Given the description of an element on the screen output the (x, y) to click on. 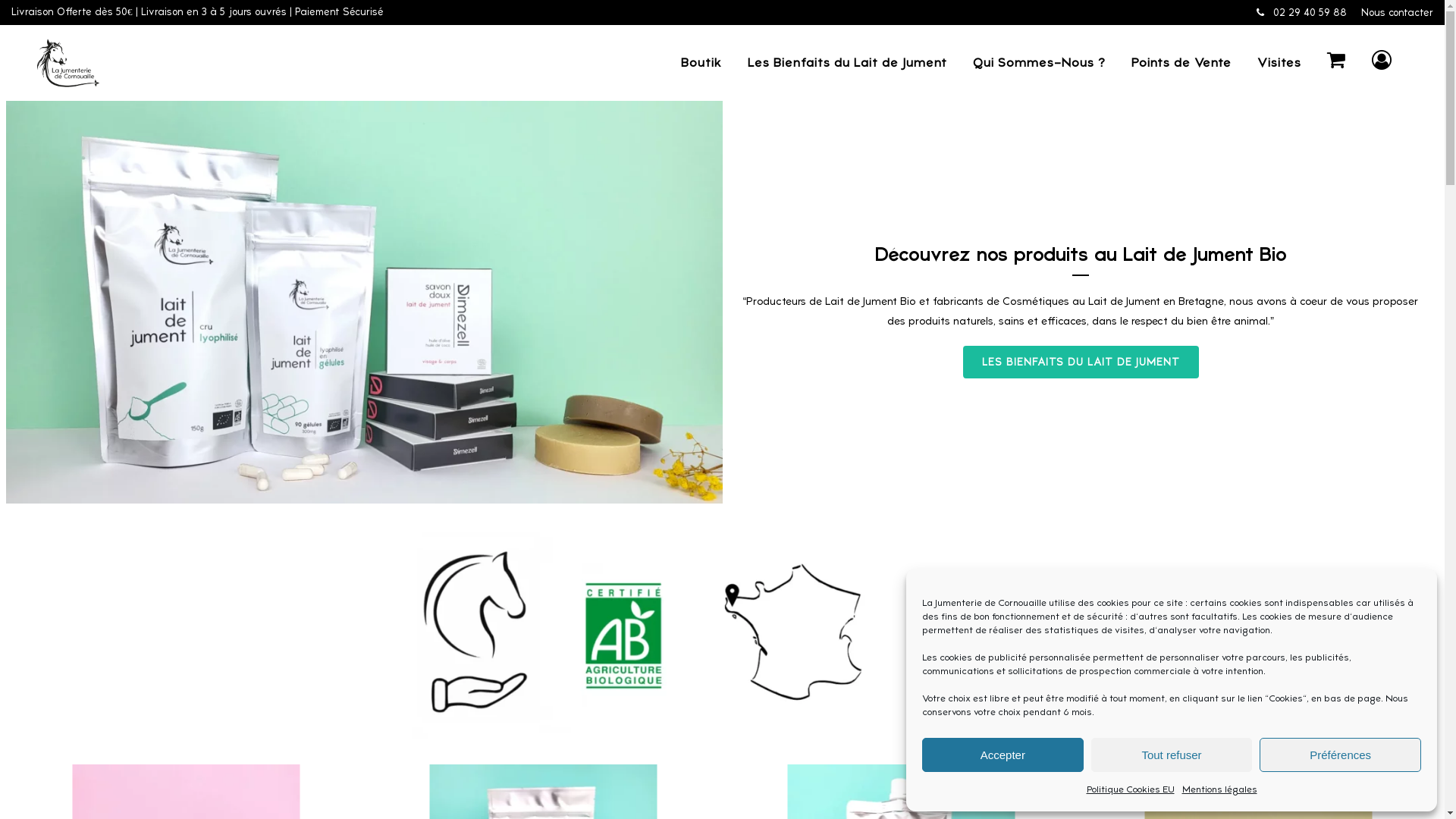
LES BIENFAITS DU LAIT DE JUMENT Element type: text (1080, 361)
Accepter Element type: text (1002, 754)
Les Bienfaits du Lait de Jument Element type: text (847, 62)
Nous contacter Element type: text (1397, 12)
Points de Vente Element type: text (1181, 62)
Tout refuser Element type: text (1171, 754)
Boutik Element type: text (701, 62)
02 29 40 59 88 Element type: text (1301, 12)
Politique Cookies EU Element type: text (1129, 789)
Qui Sommes-Nous ? Element type: text (1039, 62)
Visites Element type: text (1279, 62)
Agriculture Biologique Bretagne Element type: hover (722, 633)
